Given the description of an element on the screen output the (x, y) to click on. 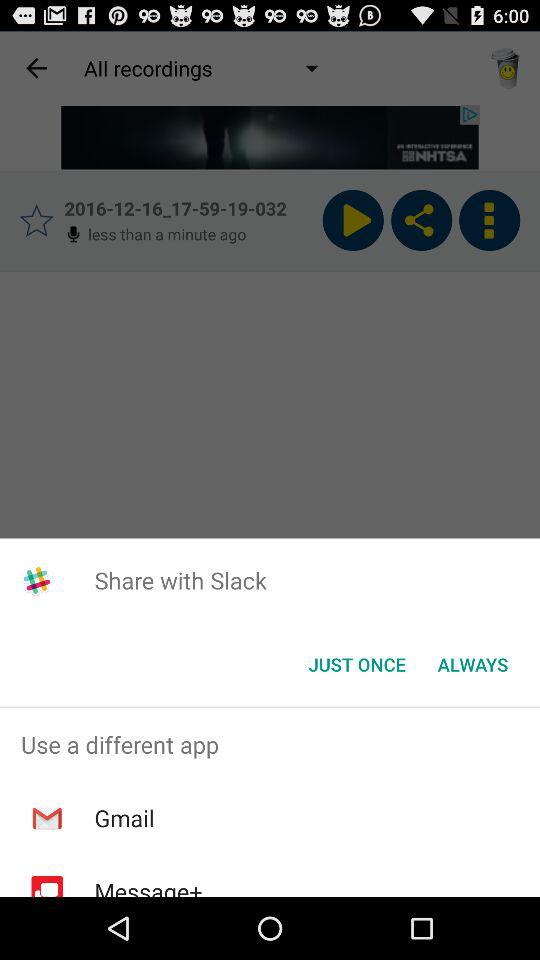
open the item next to the just once icon (472, 664)
